Given the description of an element on the screen output the (x, y) to click on. 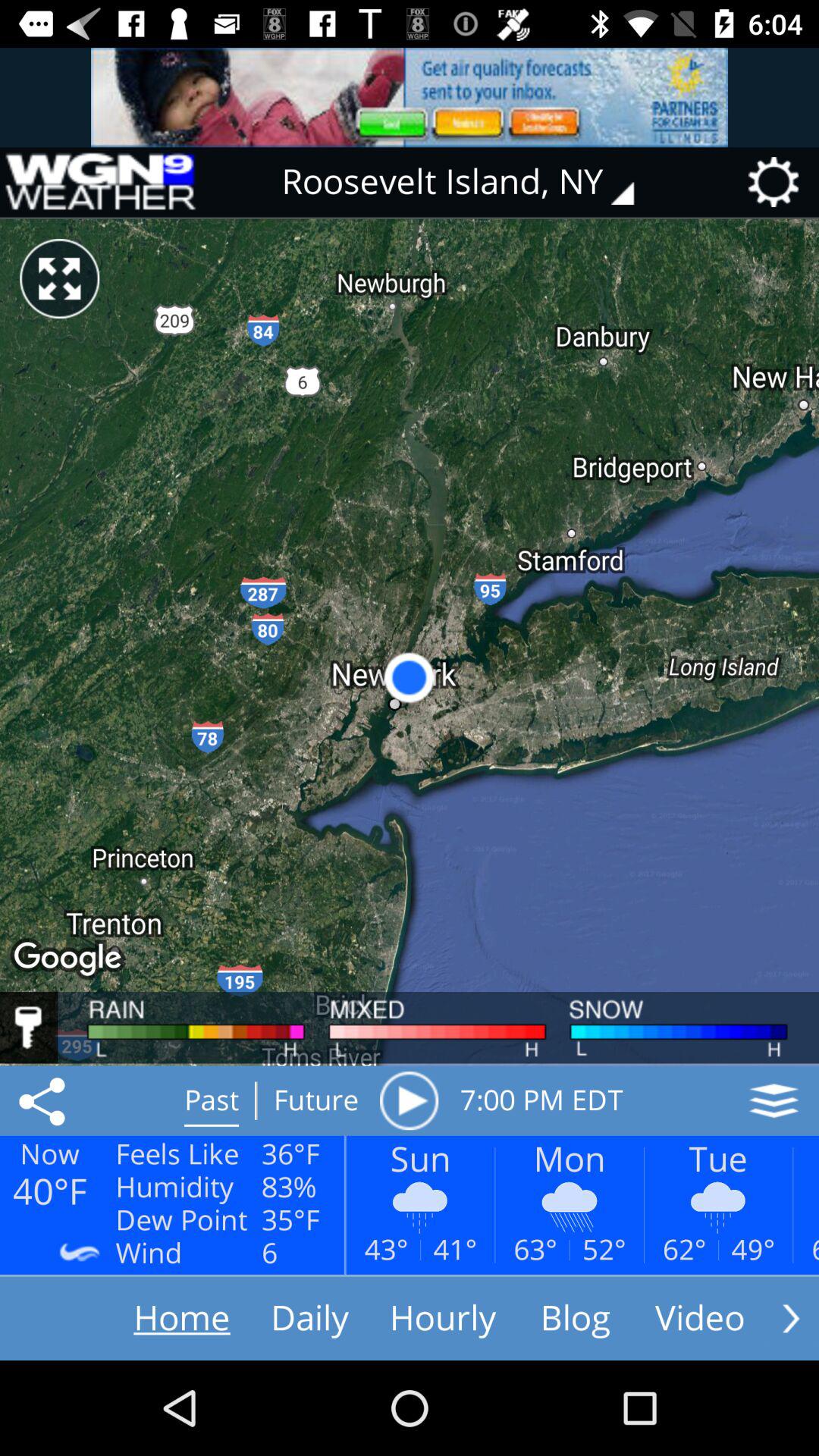
turn on icon to the left of roosevelt island, ny item (99, 182)
